Given the description of an element on the screen output the (x, y) to click on. 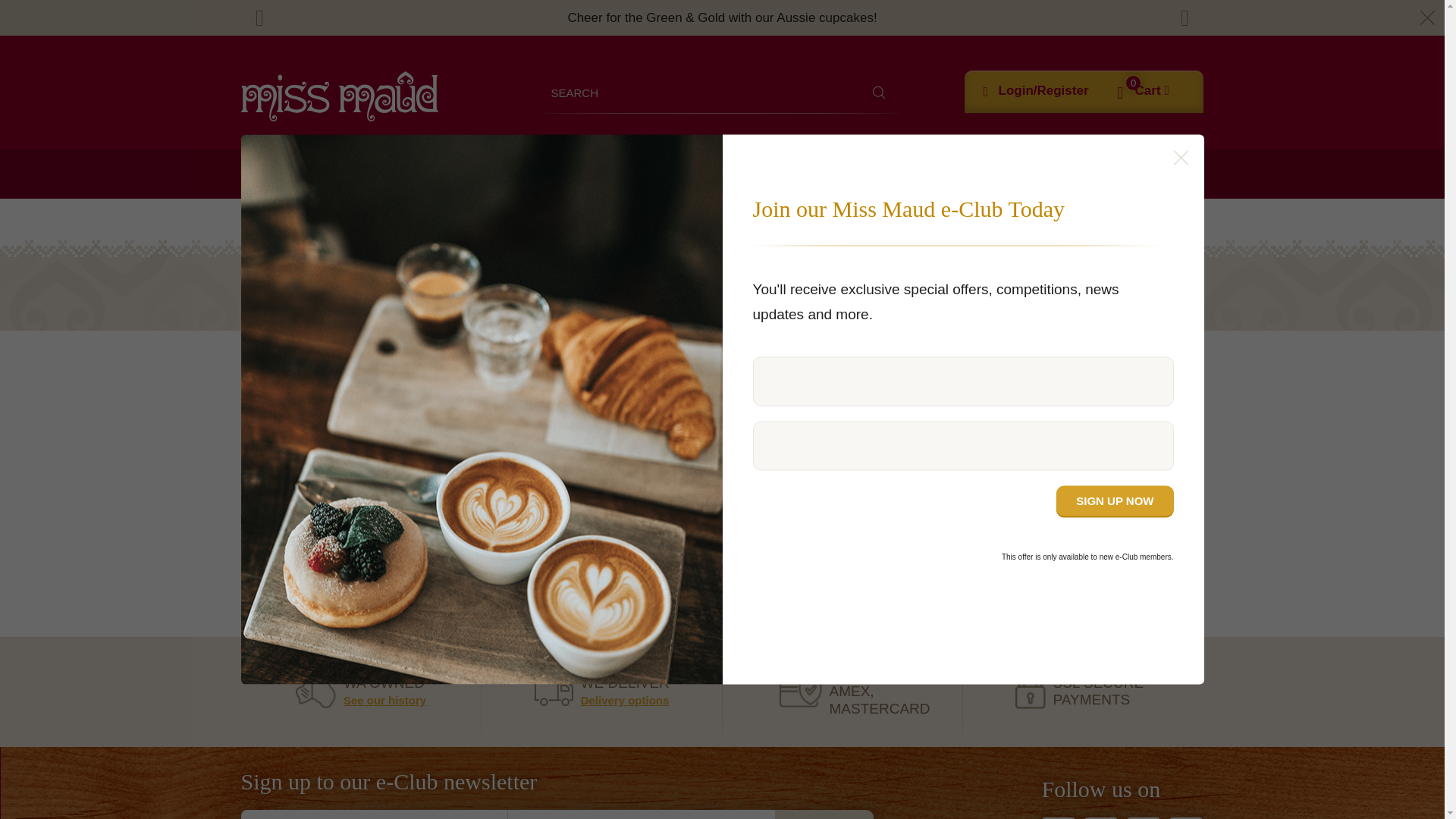
HOME (260, 174)
Next Slide (1185, 18)
Search (879, 92)
Cart (1152, 90)
GIFT IDEAS (924, 174)
CATERING (434, 174)
facebook (1058, 818)
Previous Slide (260, 18)
linkedIn (1186, 818)
Sign Up (823, 814)
THE GAMES (338, 174)
Reset Password (721, 538)
SPECIAL DIETARY (696, 174)
instagram (1100, 818)
Sign Up Now (1115, 500)
